Given the description of an element on the screen output the (x, y) to click on. 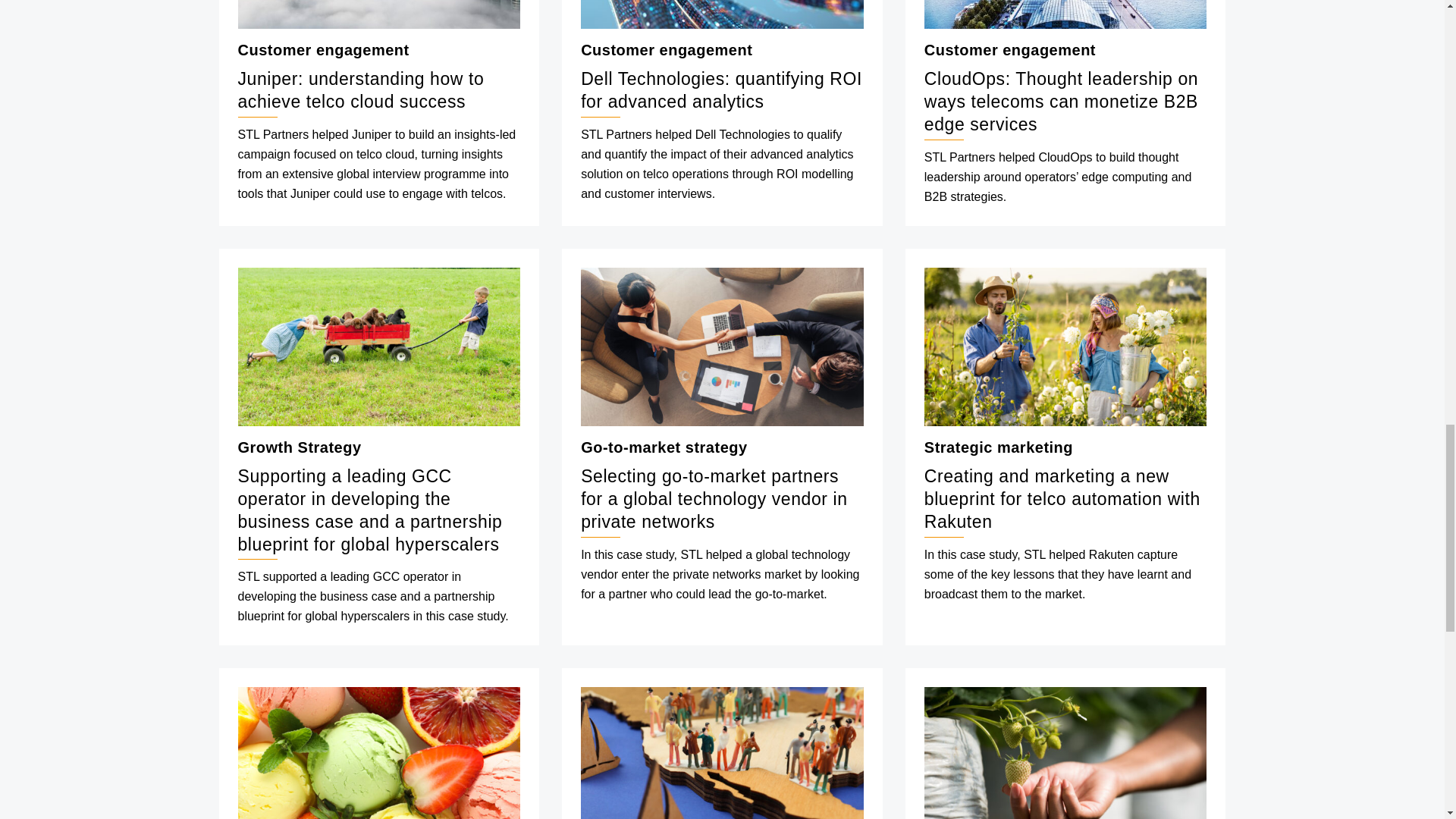
Juniper: understanding how to achieve telco cloud success (379, 14)
Dell Technologies: quantifying ROI for advanced analytics (721, 14)
